Given the description of an element on the screen output the (x, y) to click on. 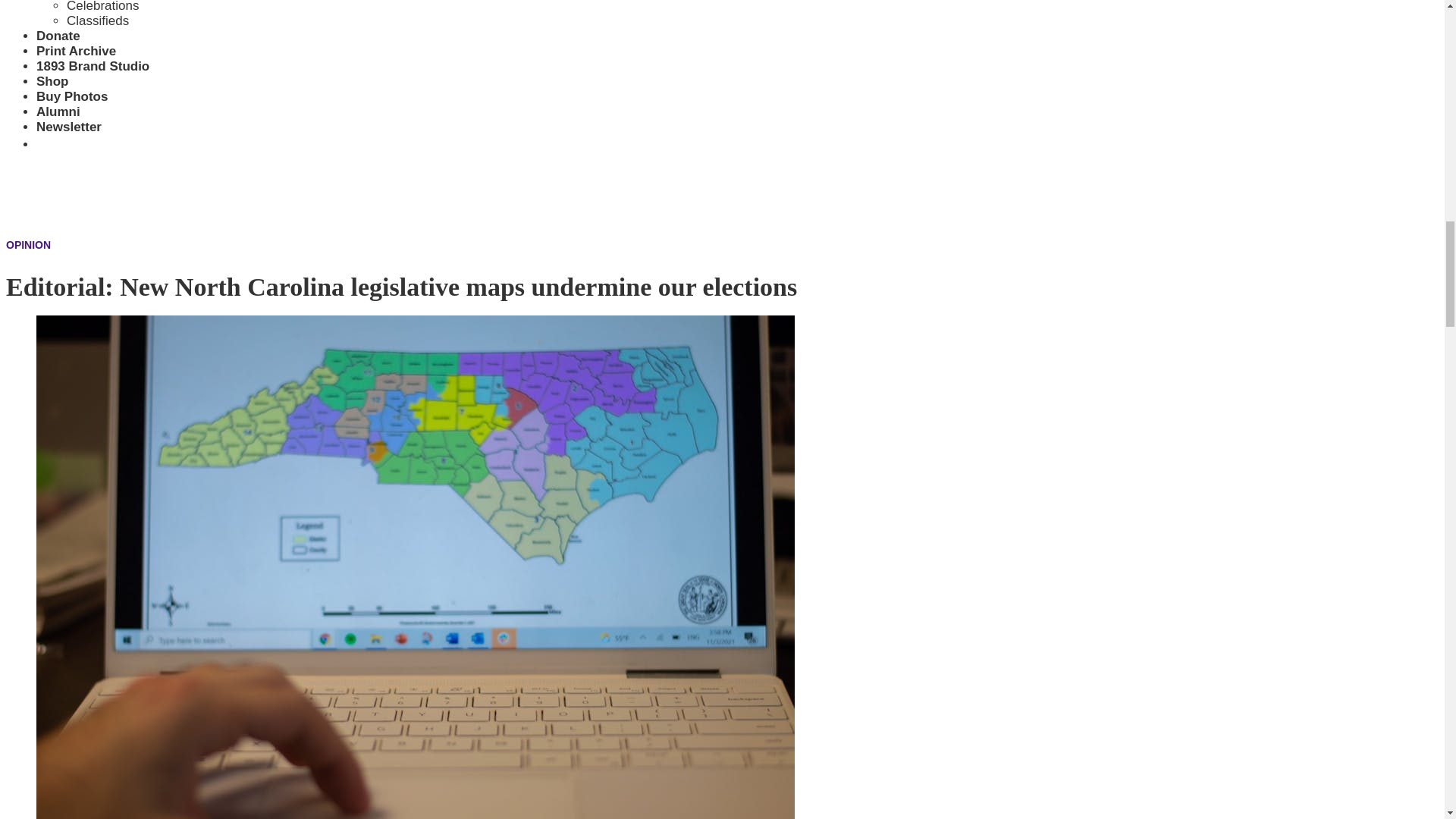
Buy Photos (71, 96)
Shop (52, 81)
Alumni (58, 111)
Donate (58, 35)
Print Archive (76, 51)
1893 Brand Studio (92, 65)
Newsletter (68, 126)
